Given the description of an element on the screen output the (x, y) to click on. 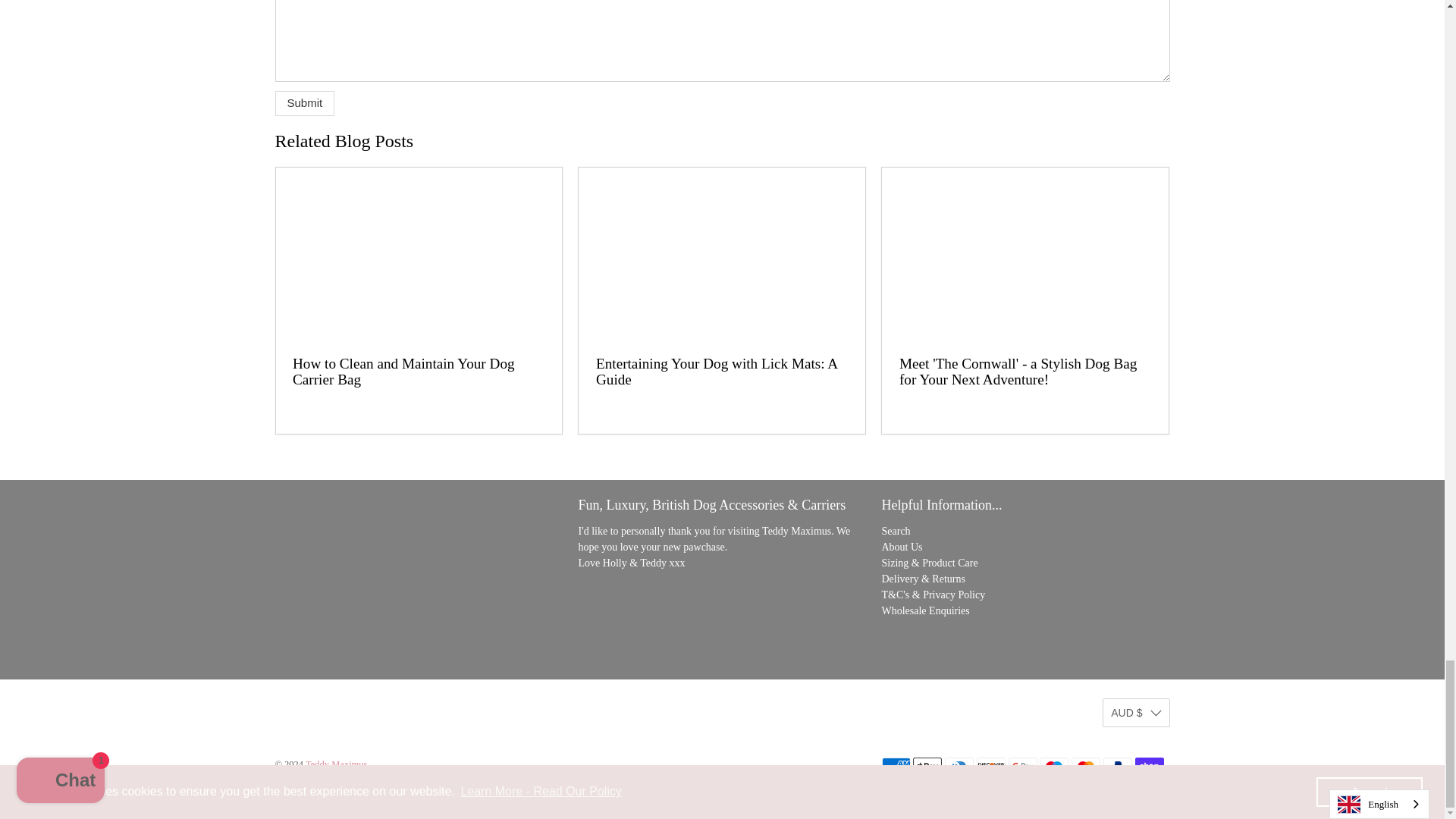
Entertaining Your Dog with Lick Mats: A Guide (721, 252)
Apple Pay (927, 766)
Discover (991, 766)
PayPal (1117, 766)
Google Pay (1022, 766)
Submit (304, 103)
Diners Club (959, 766)
American Express (895, 766)
How to Clean and Maintain Your Dog Carrier Bag (403, 371)
Mastercard (1085, 766)
Entertaining Your Dog with Lick Mats: A Guide (716, 371)
How to Clean and Maintain Your Dog Carrier Bag (419, 252)
Shop Pay (1148, 766)
